Given the description of an element on the screen output the (x, y) to click on. 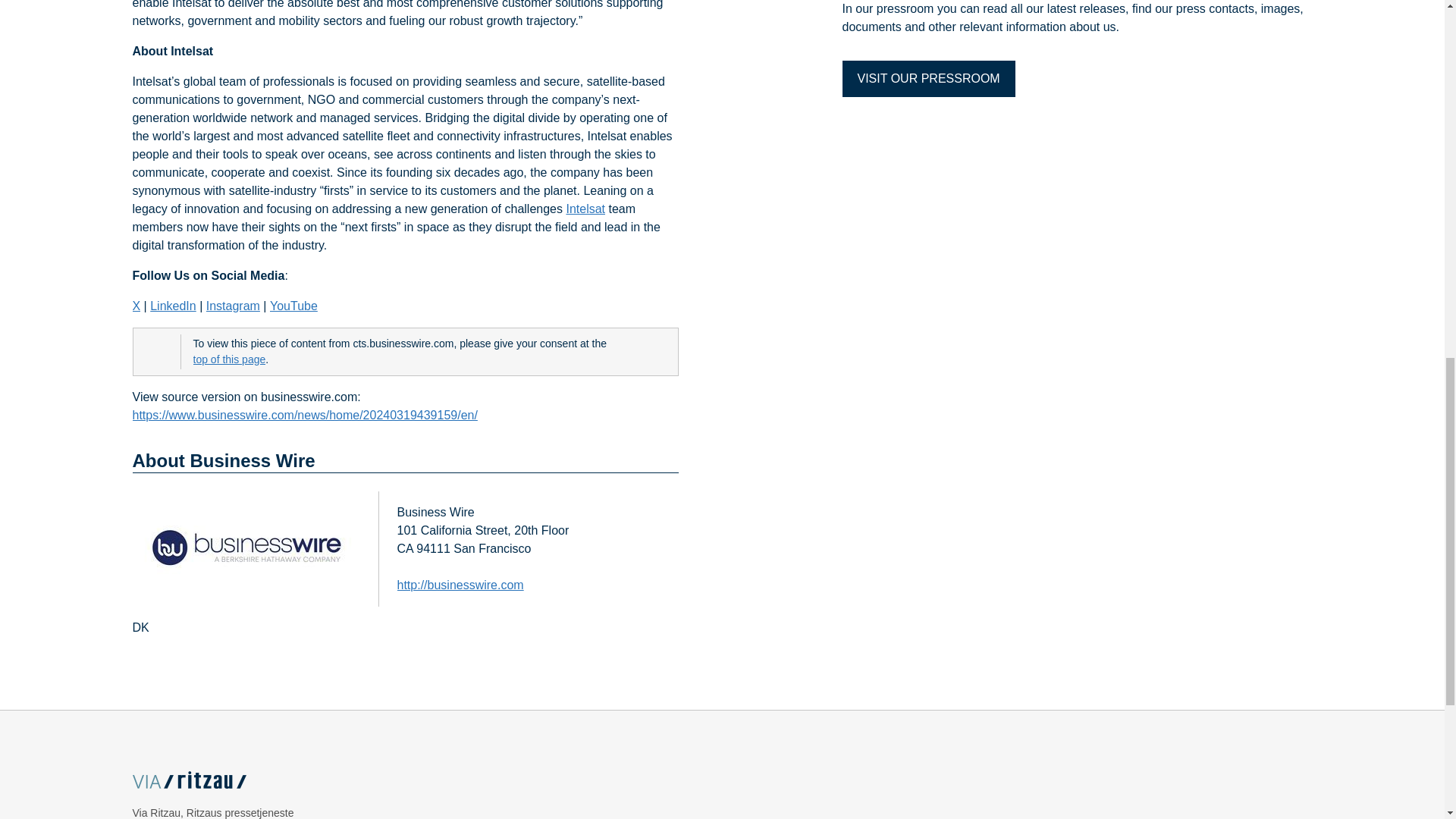
VISIT OUR PRESSROOM (927, 78)
top of this page (228, 359)
Intelsat (585, 208)
LinkedIn (172, 306)
Instagram (233, 306)
YouTube (293, 306)
